Given the description of an element on the screen output the (x, y) to click on. 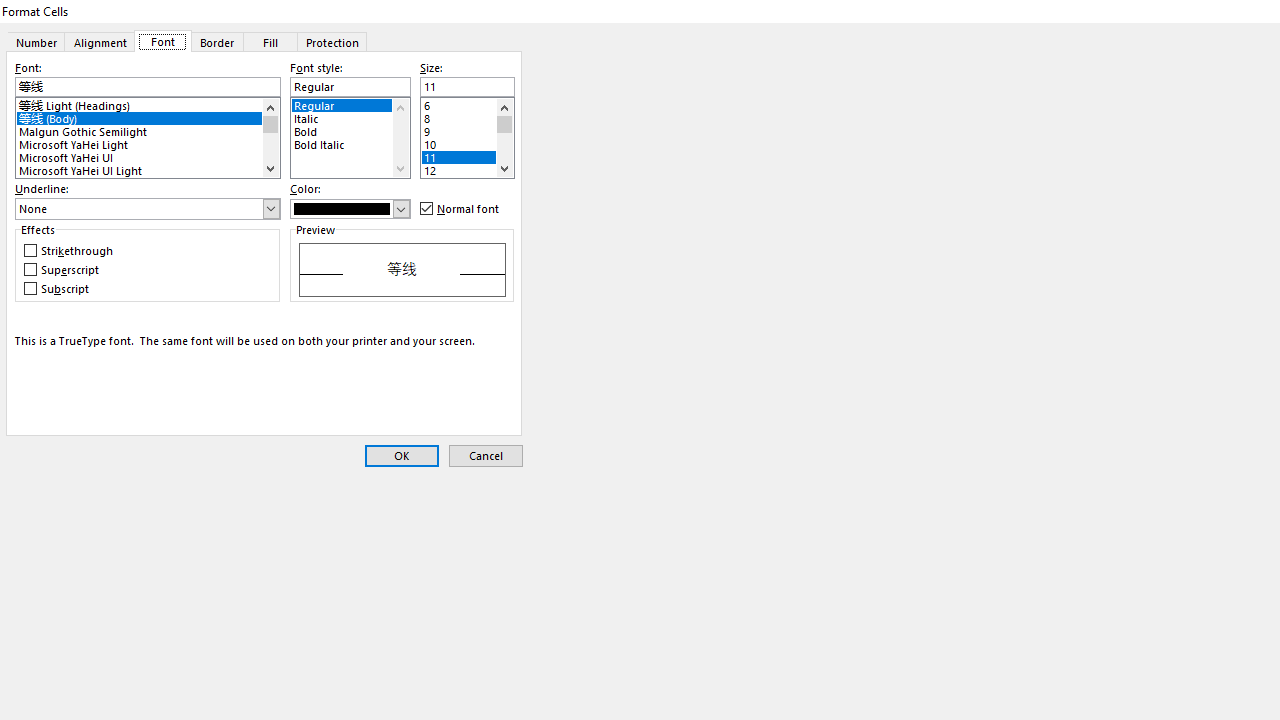
Malgun Gothic Semilight (148, 129)
12 (466, 168)
Number (35, 41)
Microsoft YaHei Light (148, 142)
Protection (333, 41)
Regular (350, 103)
Cancel (485, 456)
6 (466, 103)
Color Black (350, 208)
Size: (466, 87)
